Given the description of an element on the screen output the (x, y) to click on. 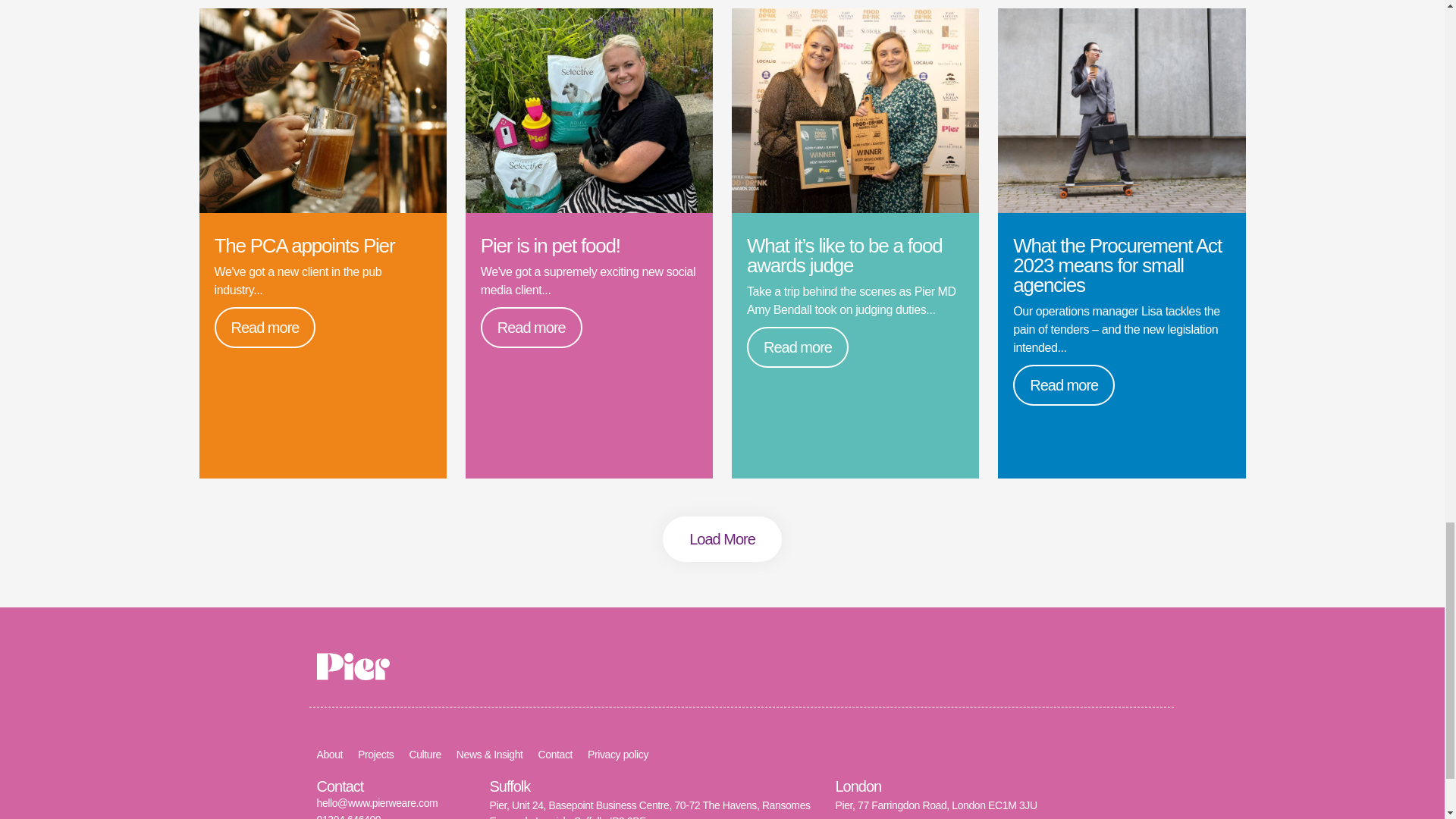
Privacy policy (617, 754)
Read more (797, 346)
01394 646400 (349, 816)
Read more (1064, 384)
About (330, 754)
Read more (531, 327)
Contact (555, 754)
Load More (721, 538)
Culture (425, 754)
Projects (375, 754)
